Given the description of an element on the screen output the (x, y) to click on. 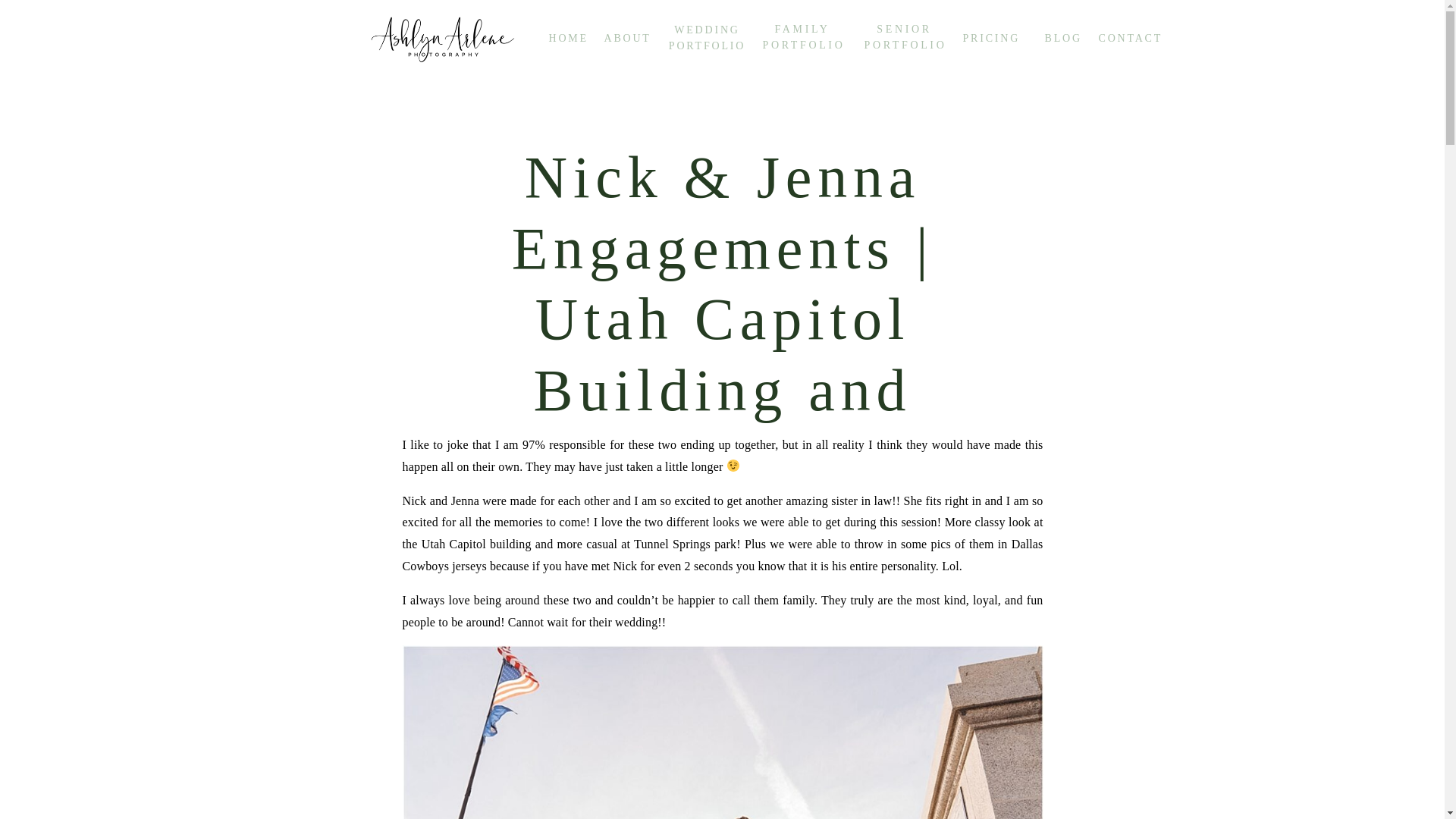
CONTACT (1130, 37)
HOME (571, 37)
ABOUT (628, 37)
BLOG (1064, 37)
WEDDING PORTFOLIO (707, 38)
PRICING (993, 37)
FAMILY PORTFOLIO (802, 37)
SENIOR PORTFOLIO (904, 36)
